Given the description of an element on the screen output the (x, y) to click on. 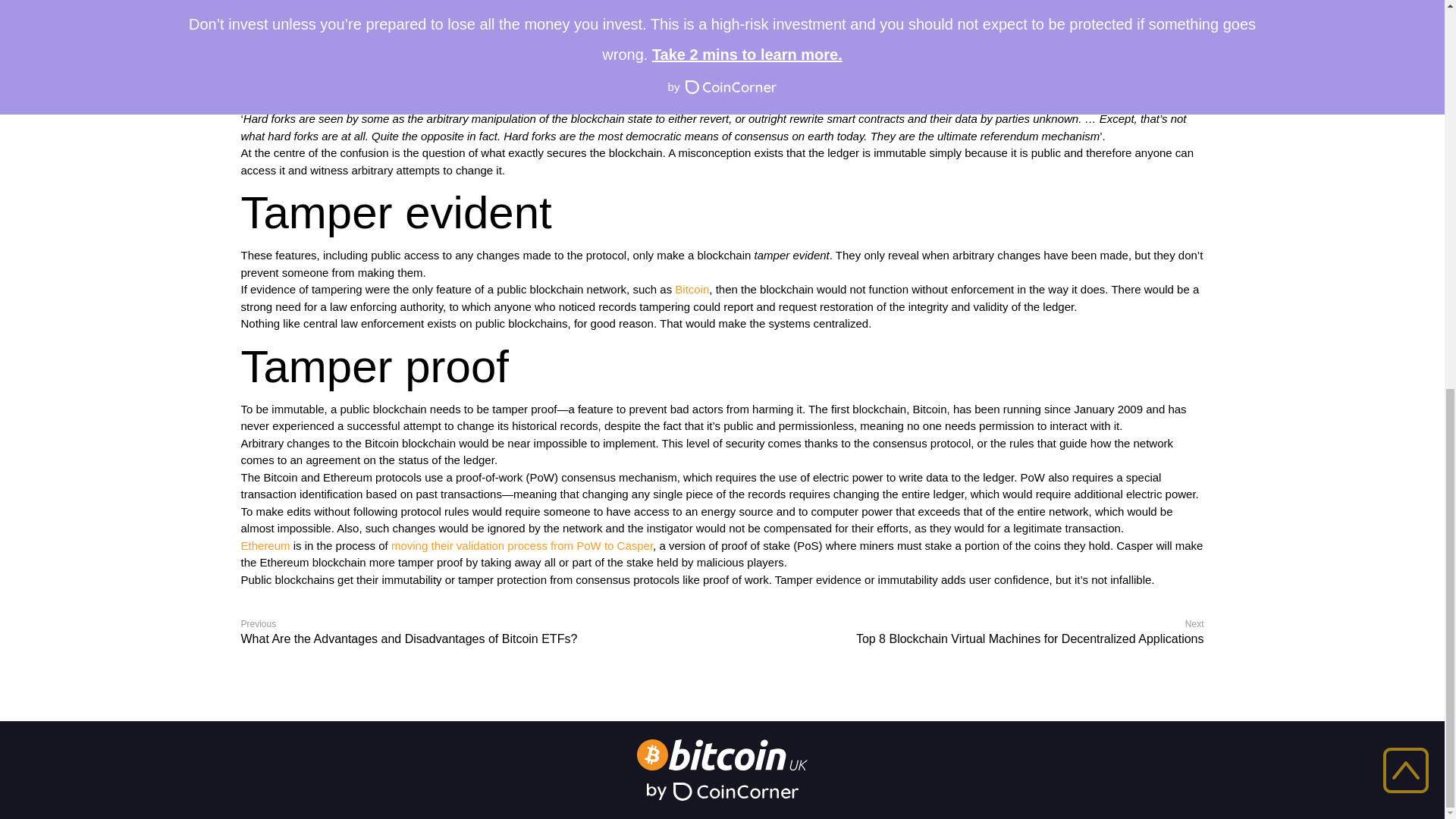
reverse transactions (748, 2)
Ethereum (265, 545)
Bitcoin (692, 288)
moving their validation process from PoW to Casper (521, 545)
a blog post (854, 101)
days before the hard fork (1041, 67)
Powered by CoinCorner (721, 791)
